Given the description of an element on the screen output the (x, y) to click on. 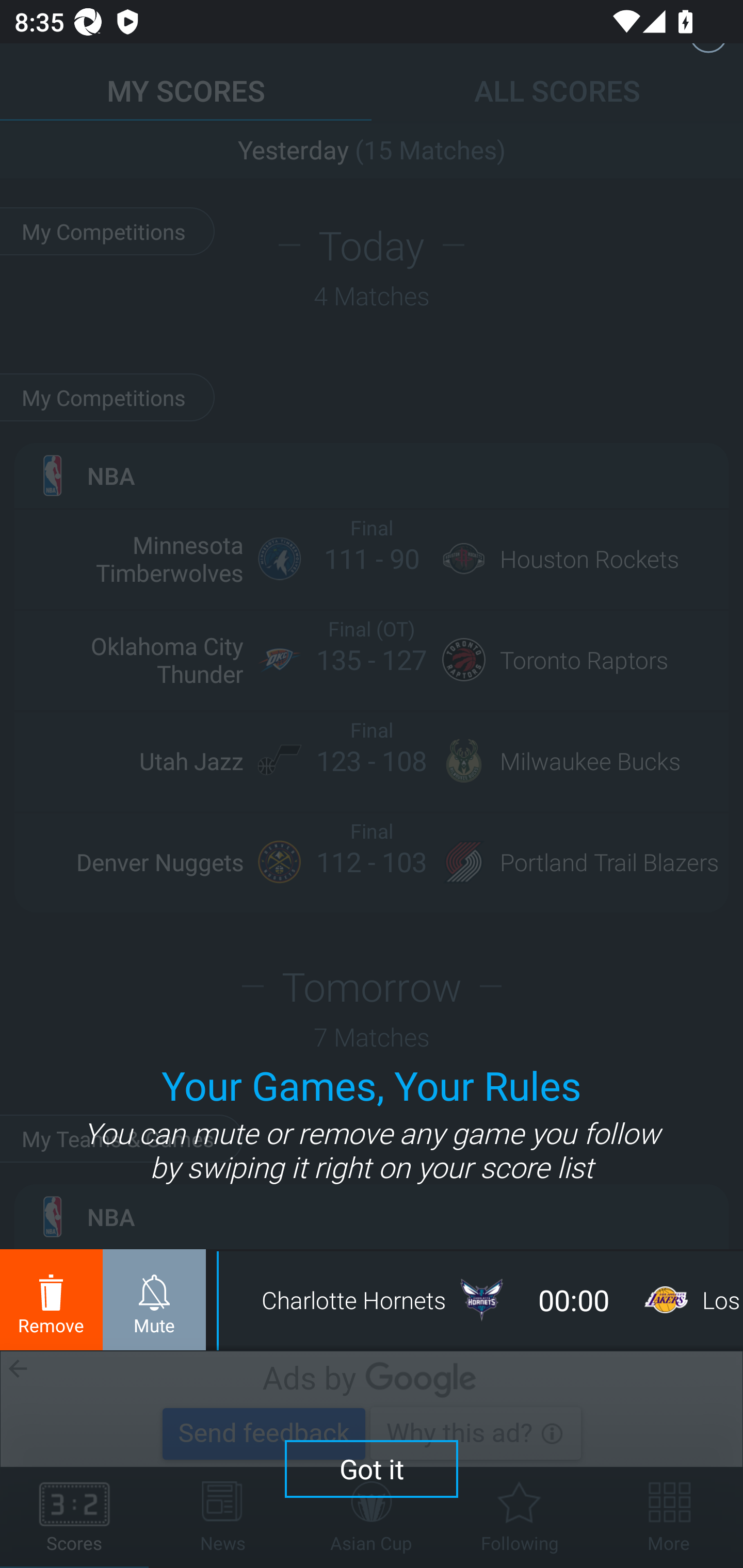
Charlotte Hornets 00:00 Los Angeles Lakers (479, 1299)
Got it (371, 1468)
